Given the description of an element on the screen output the (x, y) to click on. 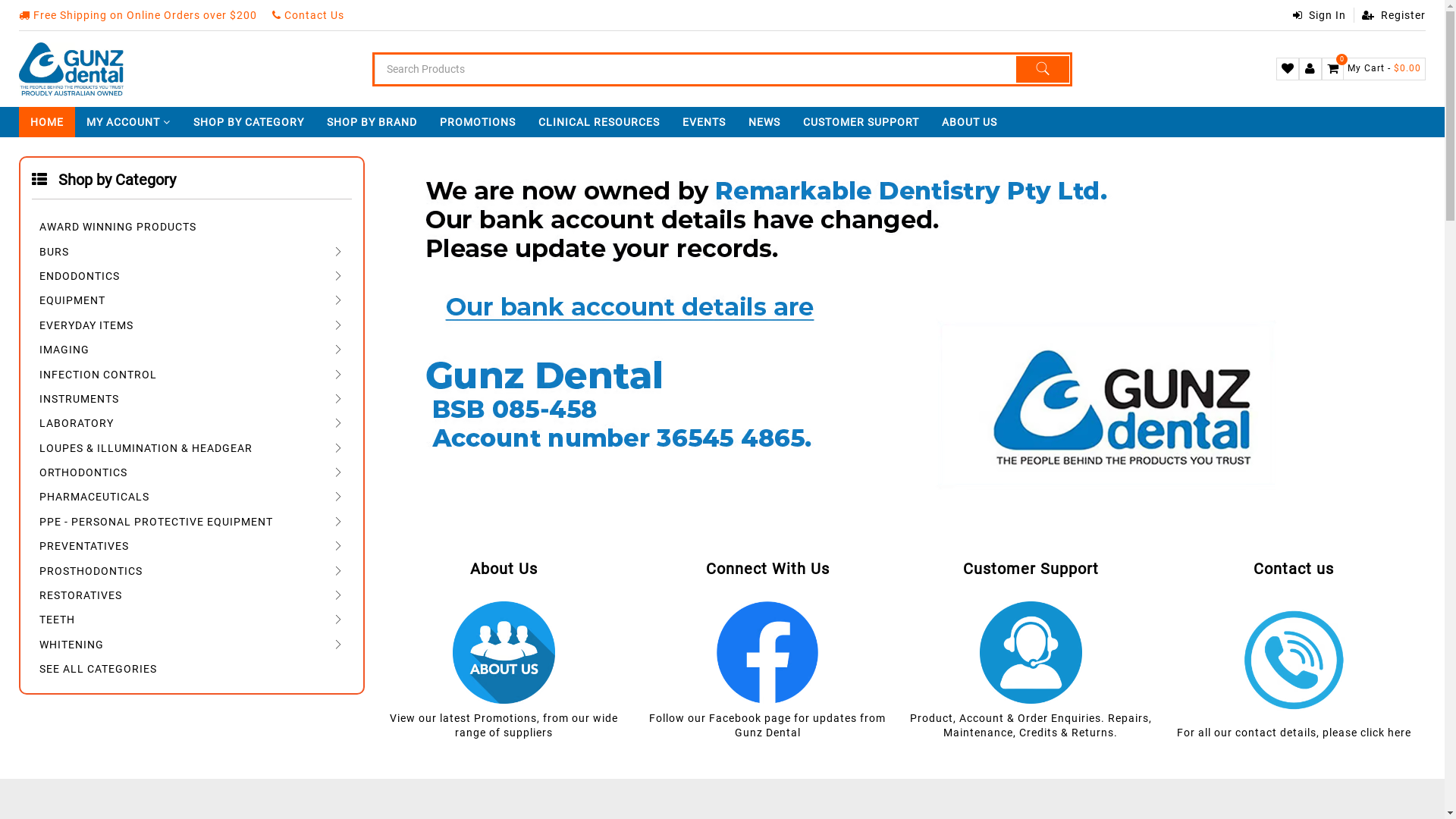
ENDODONTICS Element type: text (191, 275)
INFECTION CONTROL Element type: text (191, 373)
EVERYDAY ITEMS Element type: text (191, 324)
SHOP BY BRAND Element type: text (371, 121)
PREVENTATIVES Element type: text (191, 545)
LOUPES & ILLUMINATION & HEADGEAR Element type: text (191, 447)
IMAGING Element type: text (191, 348)
View our latest Promotions, from our wide range of suppliers Element type: text (503, 725)
SEE ALL CATEGORIES Element type: text (191, 667)
PROMOTIONS Element type: text (477, 121)
INSTRUMENTS Element type: text (191, 398)
For all our contact details, please click here Element type: text (1293, 732)
CLINICAL RESOURCES Element type: text (599, 121)
ABOUT US Element type: text (969, 121)
Free Shipping on Online Orders over $200 Element type: text (137, 14)
EVENTS Element type: text (704, 121)
LABORATORY Element type: text (191, 423)
EQUIPMENT Element type: text (191, 300)
MY ACCOUNT Element type: text (128, 121)
TEETH Element type: text (191, 619)
Gunz Dental Australia Element type: hover (70, 68)
PHARMACEUTICALS Element type: text (191, 496)
SHOP BY CATEGORY Element type: text (248, 121)
  Sign In Element type: text (1319, 14)
PPE - PERSONAL PROTECTIVE EQUIPMENT Element type: text (191, 520)
PROSTHODONTICS Element type: text (191, 570)
CUSTOMER SUPPORT Element type: text (860, 121)
  Register Element type: text (1389, 14)
RESTORATIVES Element type: text (191, 594)
AWARD WINNING PRODUCTS Element type: text (191, 226)
Contact Us Element type: text (308, 14)
HOME Element type: text (46, 121)
ORTHODONTICS Element type: text (191, 471)
WHITENING Element type: text (191, 643)
Follow our Facebook page for updates from Gunz Dental Element type: text (767, 725)
NEWS Element type: text (764, 121)
BURS Element type: text (191, 250)
